Given the description of an element on the screen output the (x, y) to click on. 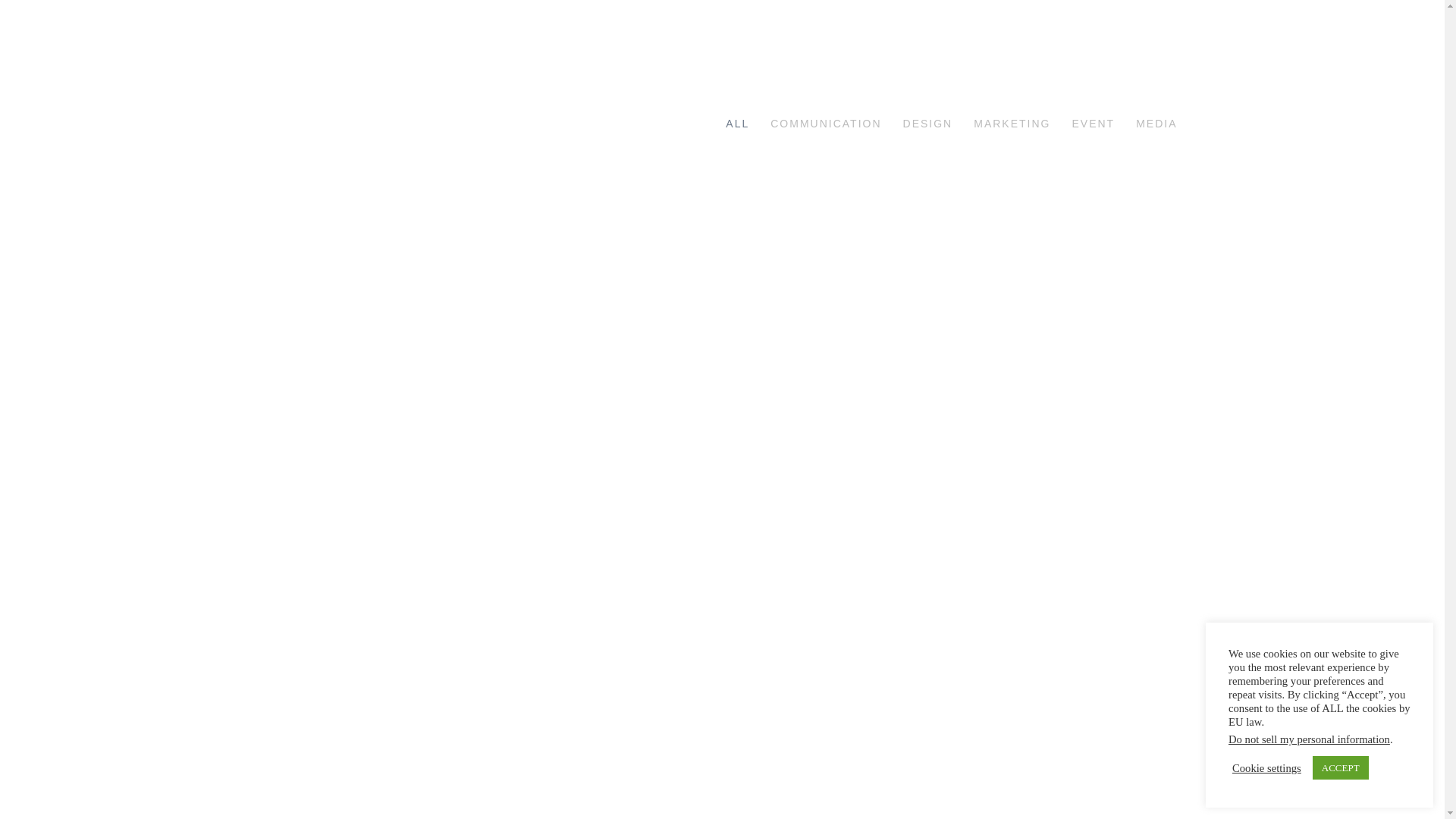
COMMUNICATION Element type: text (836, 123)
DESIGN Element type: text (938, 123)
EVENT Element type: text (1103, 123)
ACCEPT Element type: text (1340, 767)
ALL Element type: text (747, 123)
MEDIA Element type: text (1155, 123)
Do not sell my personal information Element type: text (1309, 739)
MARKETING Element type: text (1022, 123)
Cookie settings Element type: text (1266, 768)
